Given the description of an element on the screen output the (x, y) to click on. 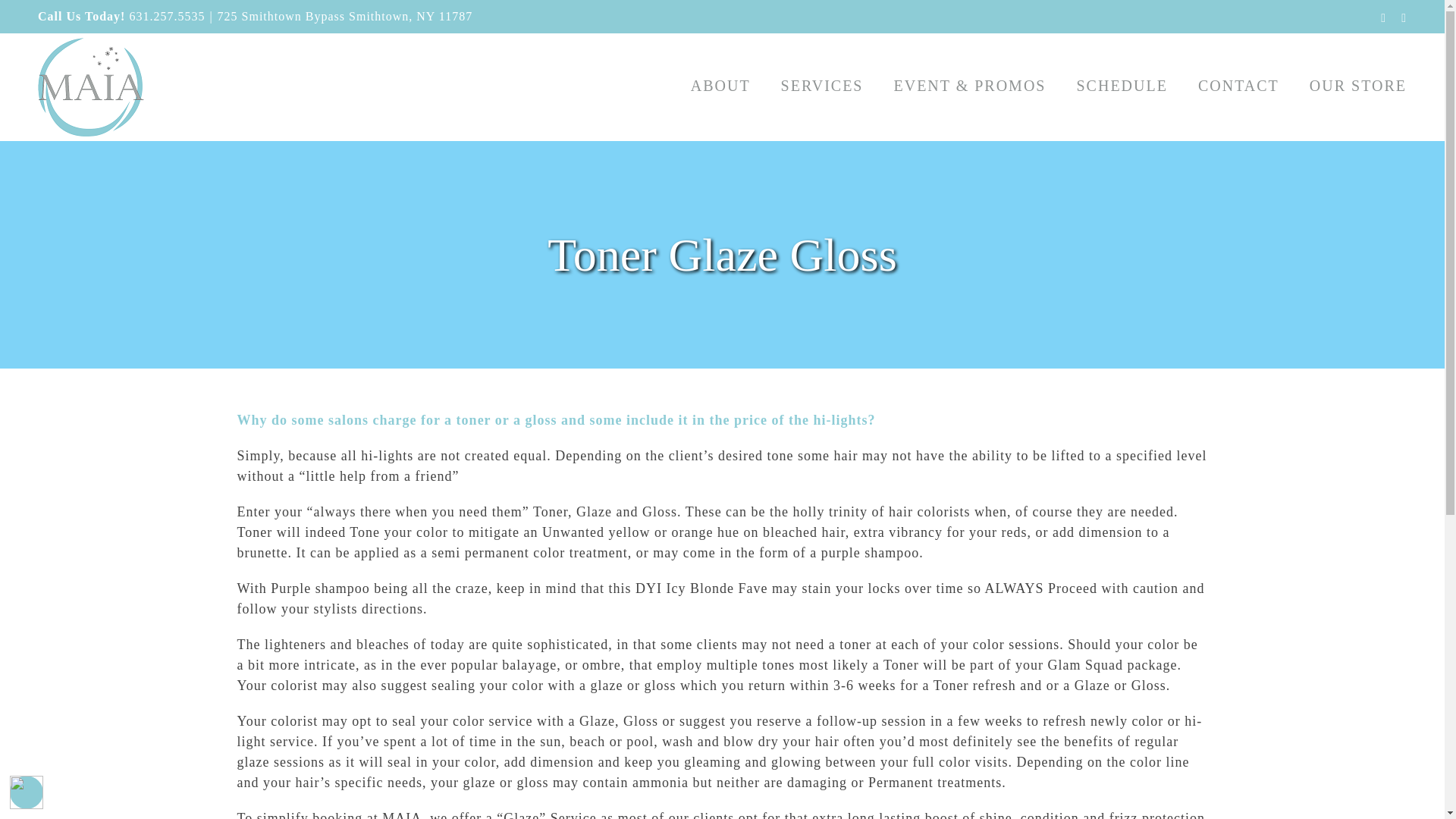
631.257.5535 (167, 15)
Accessibility Menu (26, 792)
725 Smithtown Bypass Smithtown, NY 11787 (344, 15)
